Given the description of an element on the screen output the (x, y) to click on. 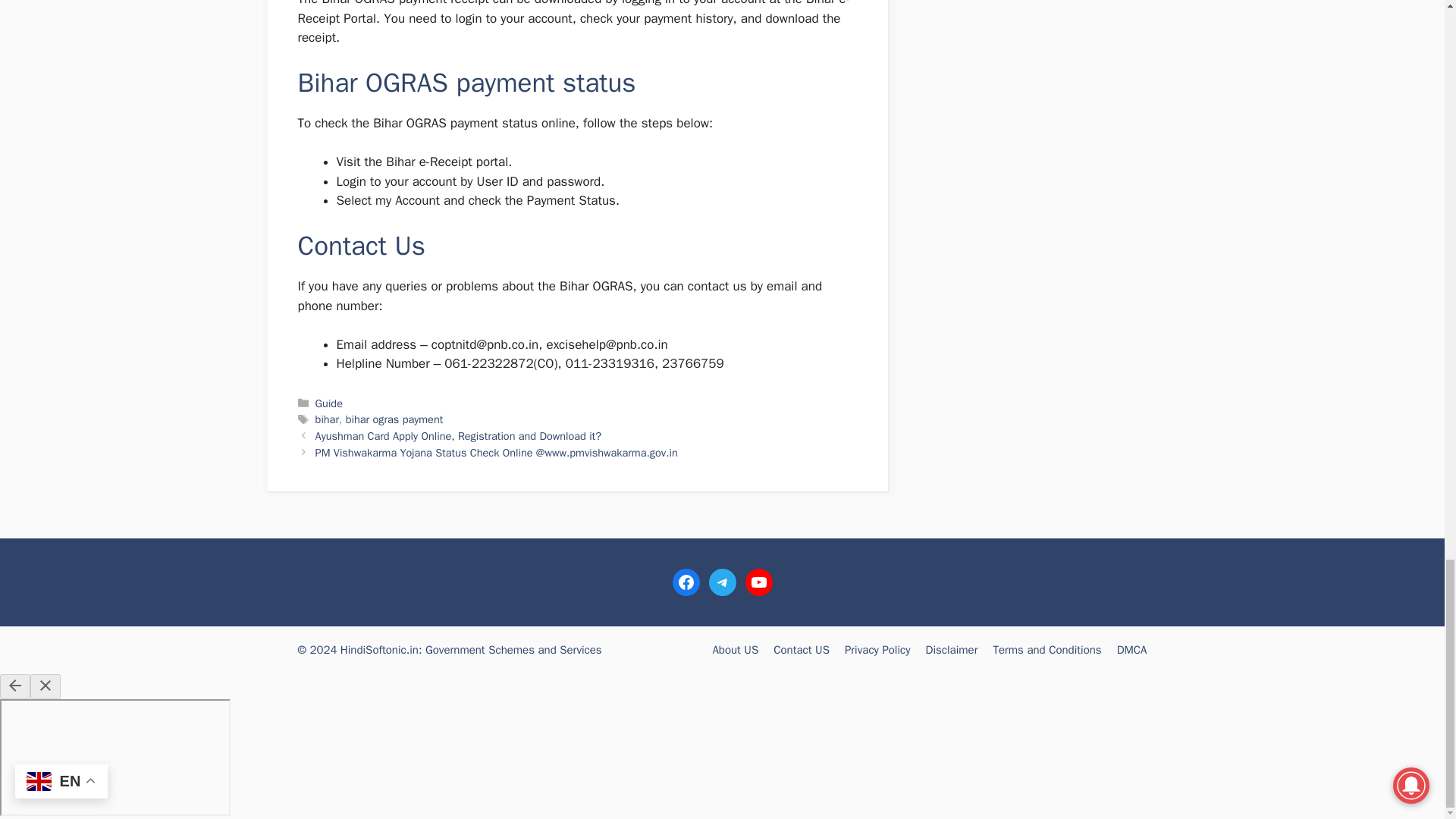
Telegram (721, 582)
About US (734, 649)
bihar (327, 418)
YouTube (757, 582)
Ayushman Card Apply Online, Registration and Download it? (458, 436)
bihar ogras payment (395, 418)
Guide (328, 403)
Facebook (684, 582)
